Given the description of an element on the screen output the (x, y) to click on. 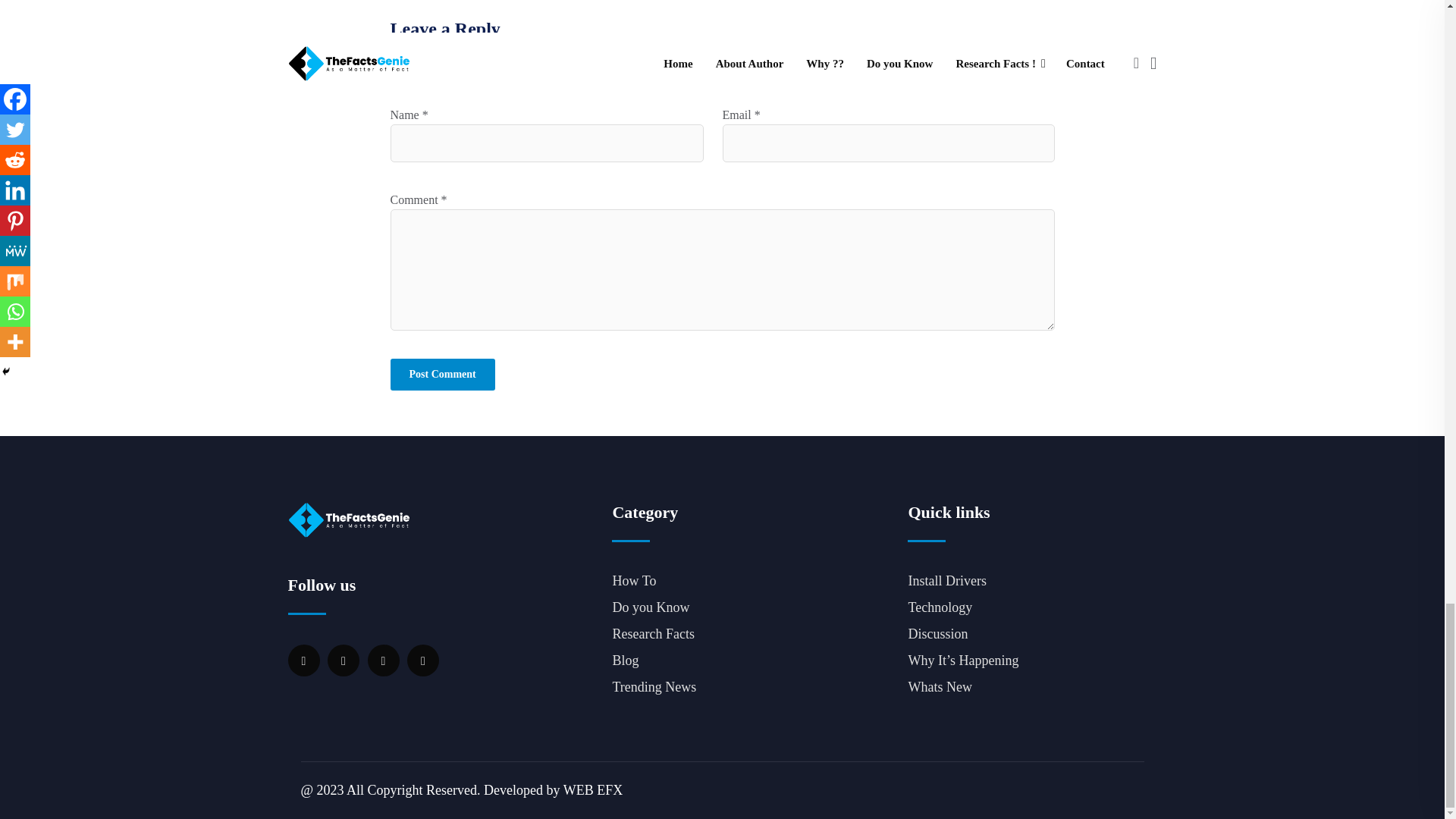
Post Comment (442, 374)
